Given the description of an element on the screen output the (x, y) to click on. 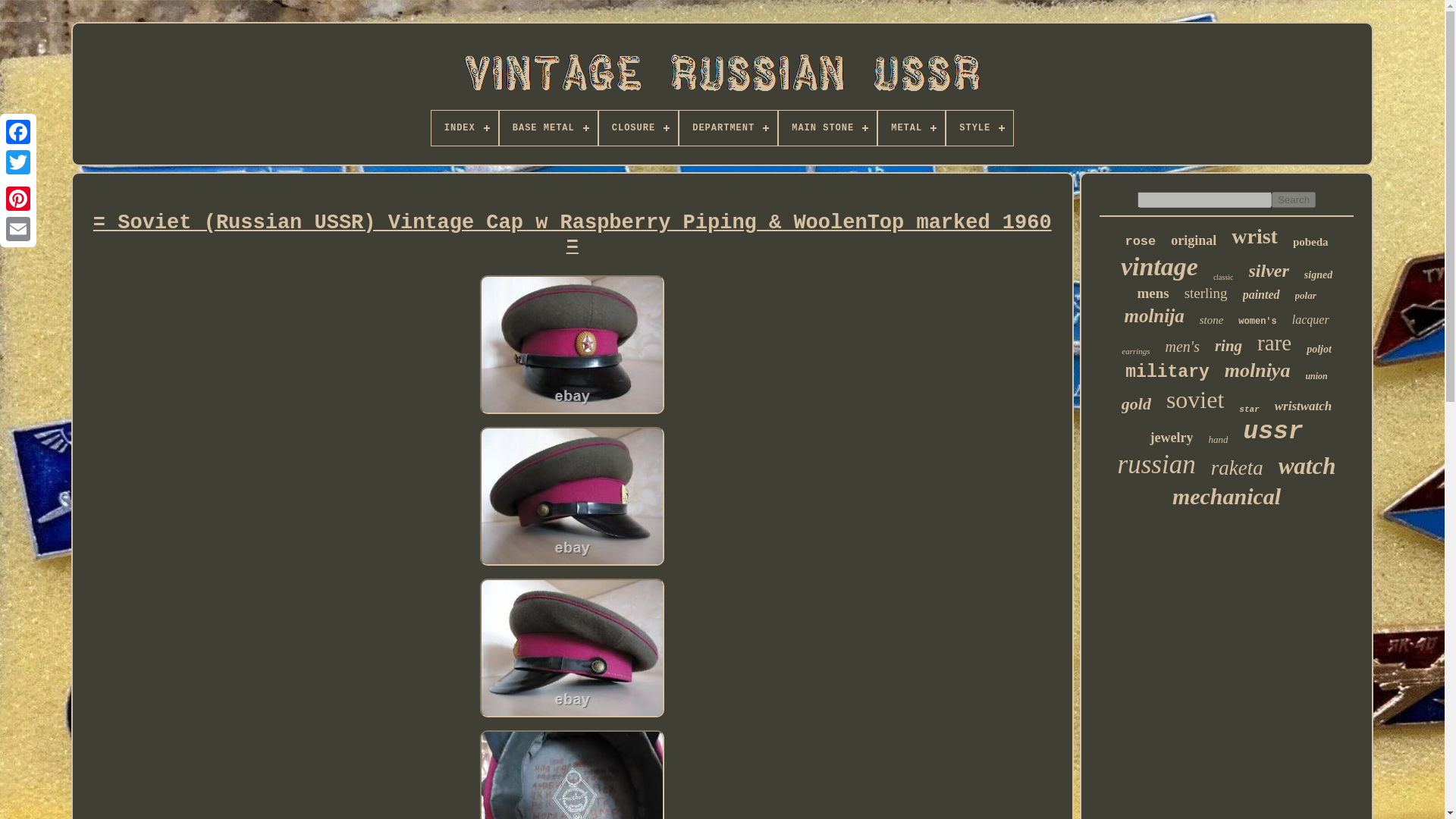
INDEX (463, 127)
CLOSURE (638, 127)
Search (1293, 199)
MAIN STONE (827, 127)
DEPARTMENT (728, 127)
BASE METAL (547, 127)
